Given the description of an element on the screen output the (x, y) to click on. 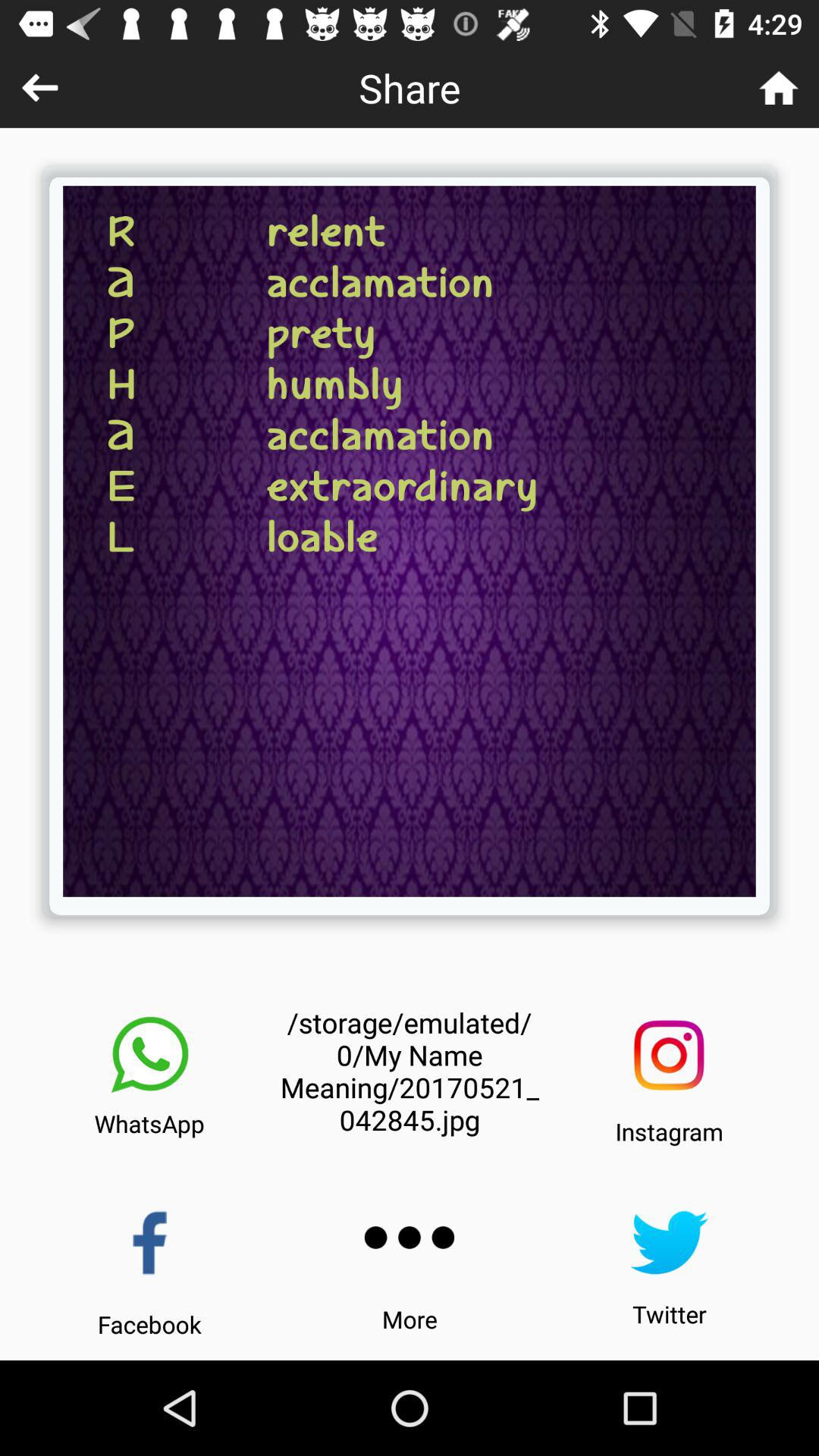
press the icon below storage emulated 0 icon (409, 1237)
